Given the description of an element on the screen output the (x, y) to click on. 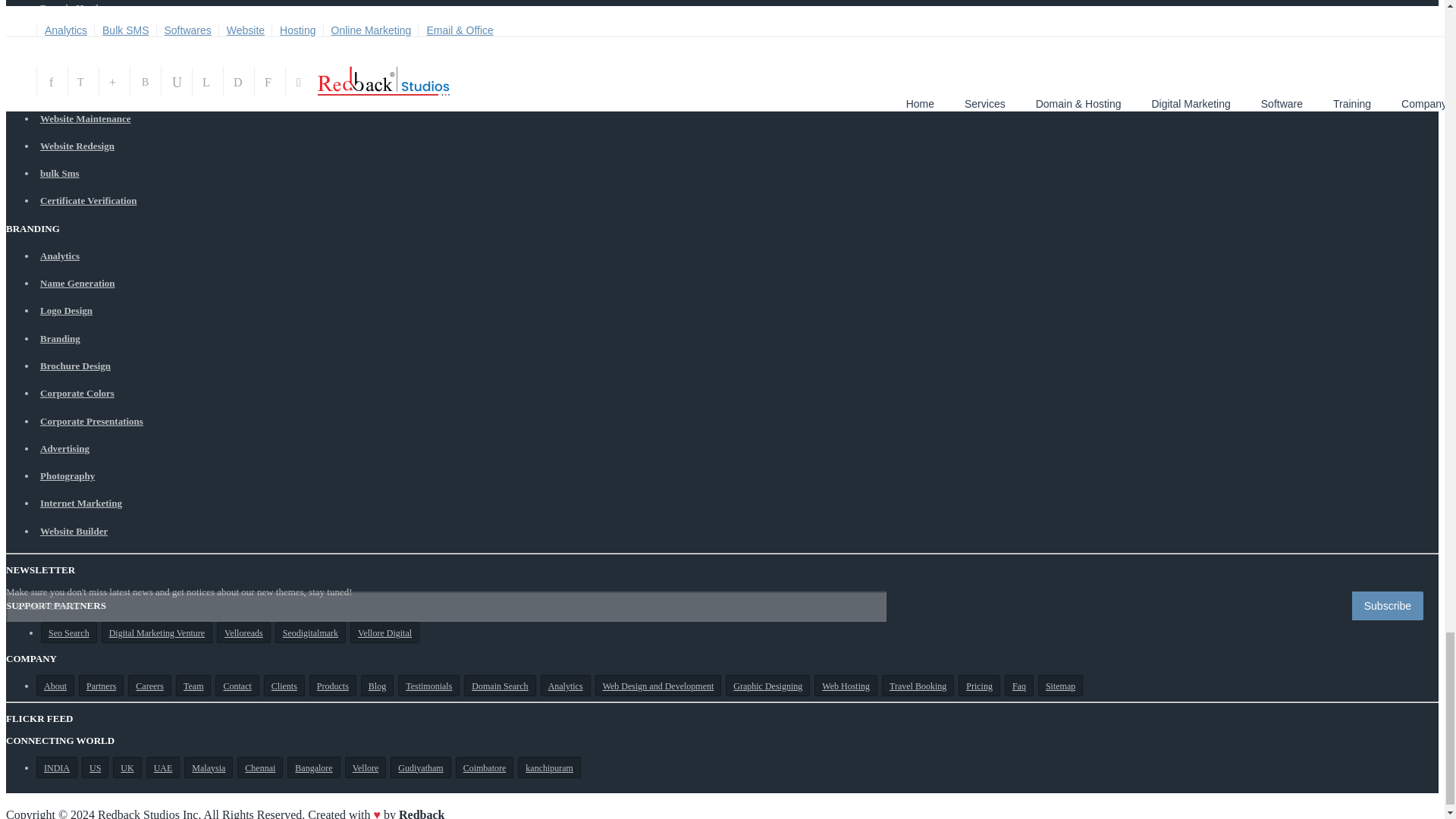
Email Address (445, 606)
